Given the description of an element on the screen output the (x, y) to click on. 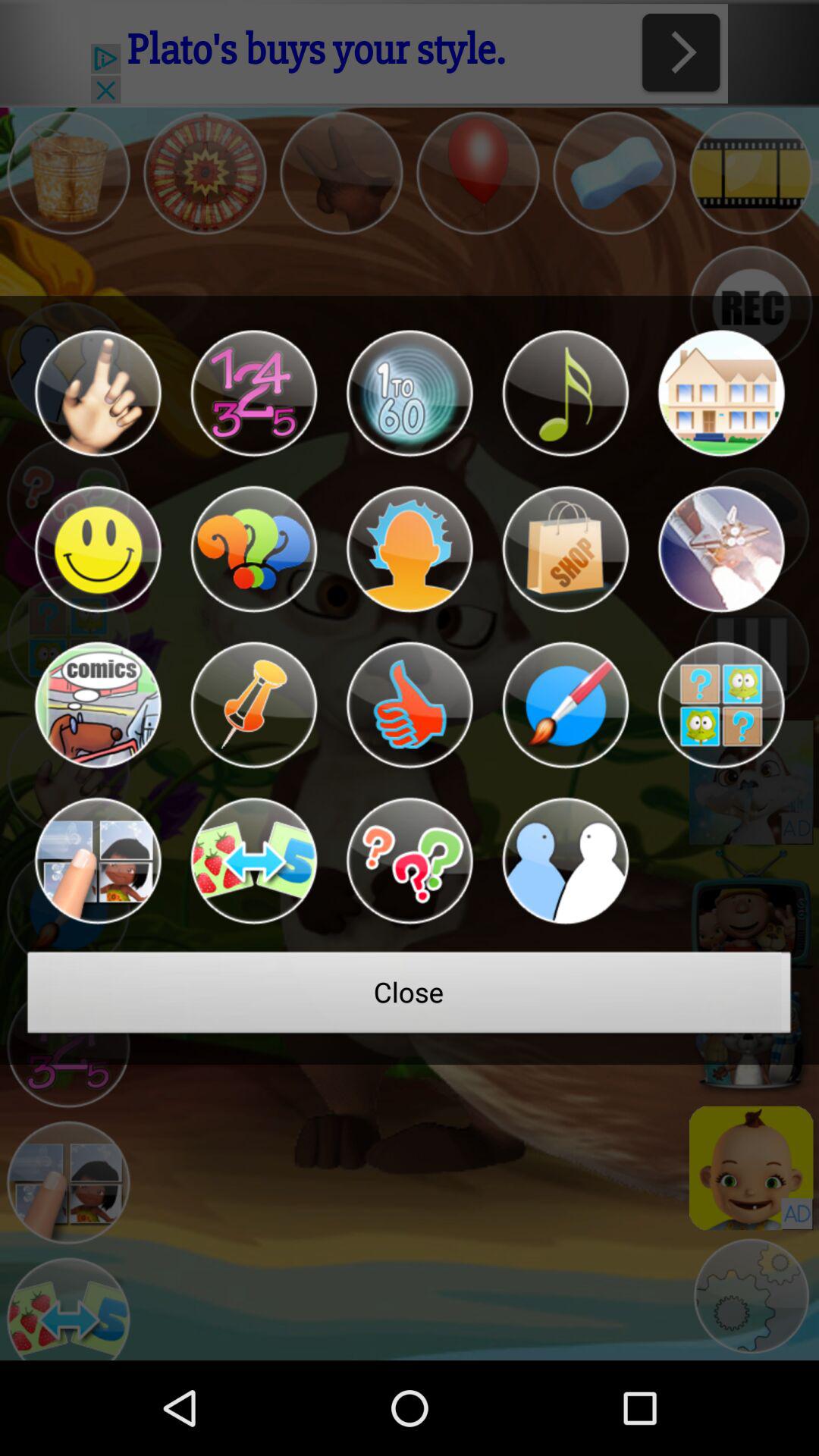
choose the icon (409, 549)
